Given the description of an element on the screen output the (x, y) to click on. 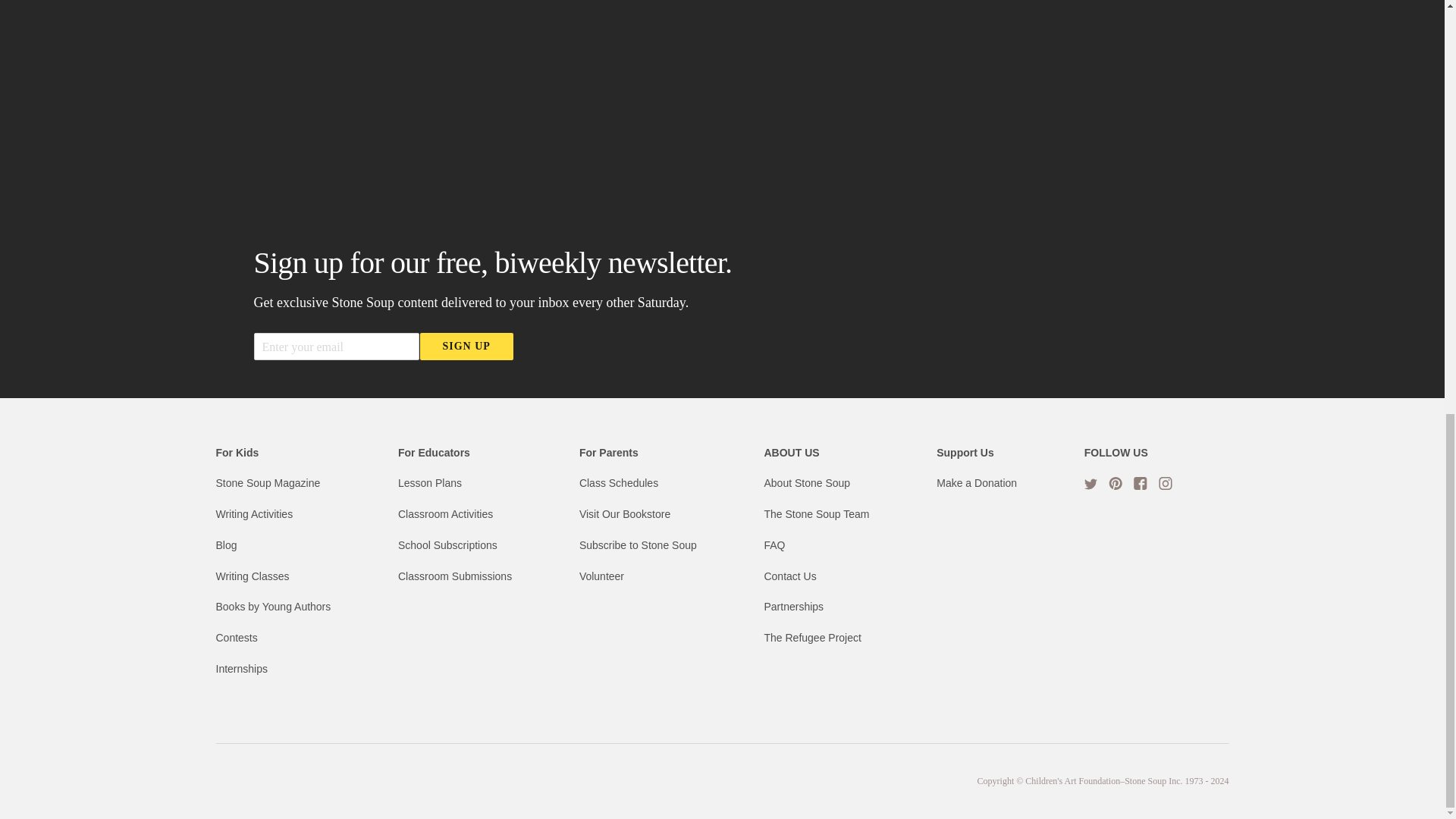
Sign Up (466, 346)
Sign Up (466, 346)
Stone Soup Magazine (267, 482)
